Given the description of an element on the screen output the (x, y) to click on. 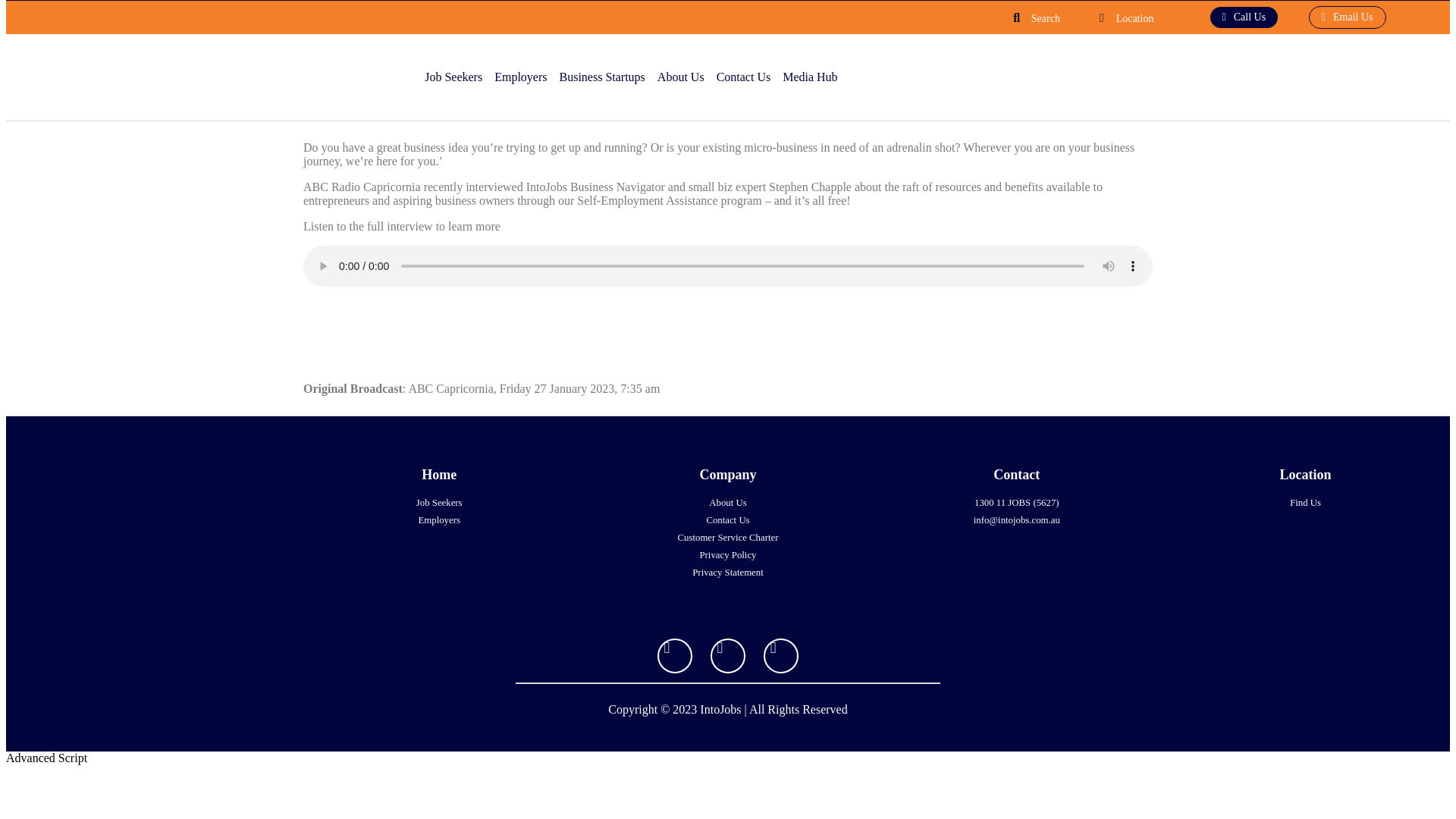
Search (1044, 18)
Email Us (1347, 16)
About Us (683, 77)
Employers (522, 77)
Call Us (1243, 16)
Job Seekers (455, 77)
Business Startups (603, 77)
Location (1135, 18)
